Given the description of an element on the screen output the (x, y) to click on. 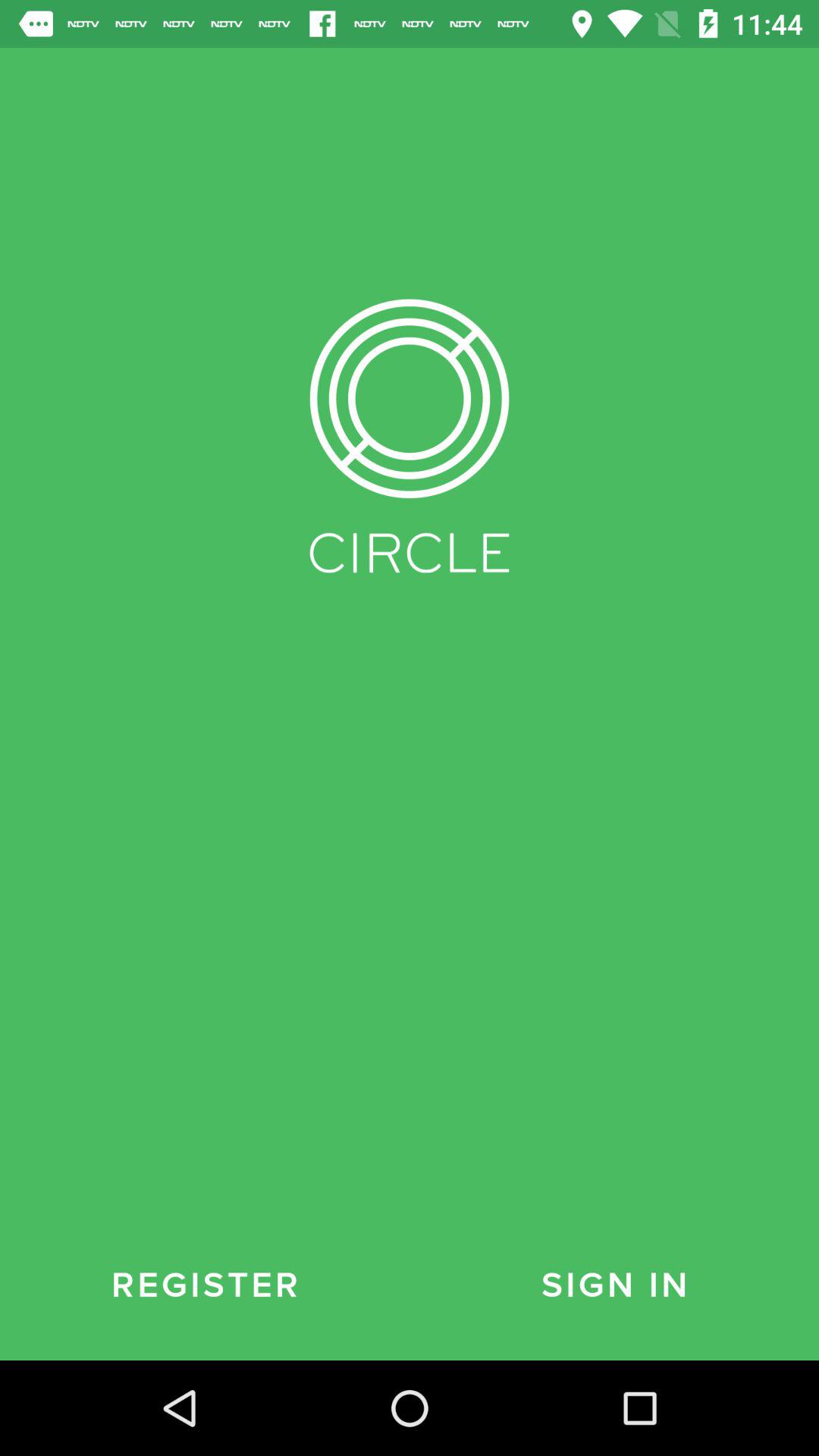
choose the item to the left of sign in item (204, 1285)
